Given the description of an element on the screen output the (x, y) to click on. 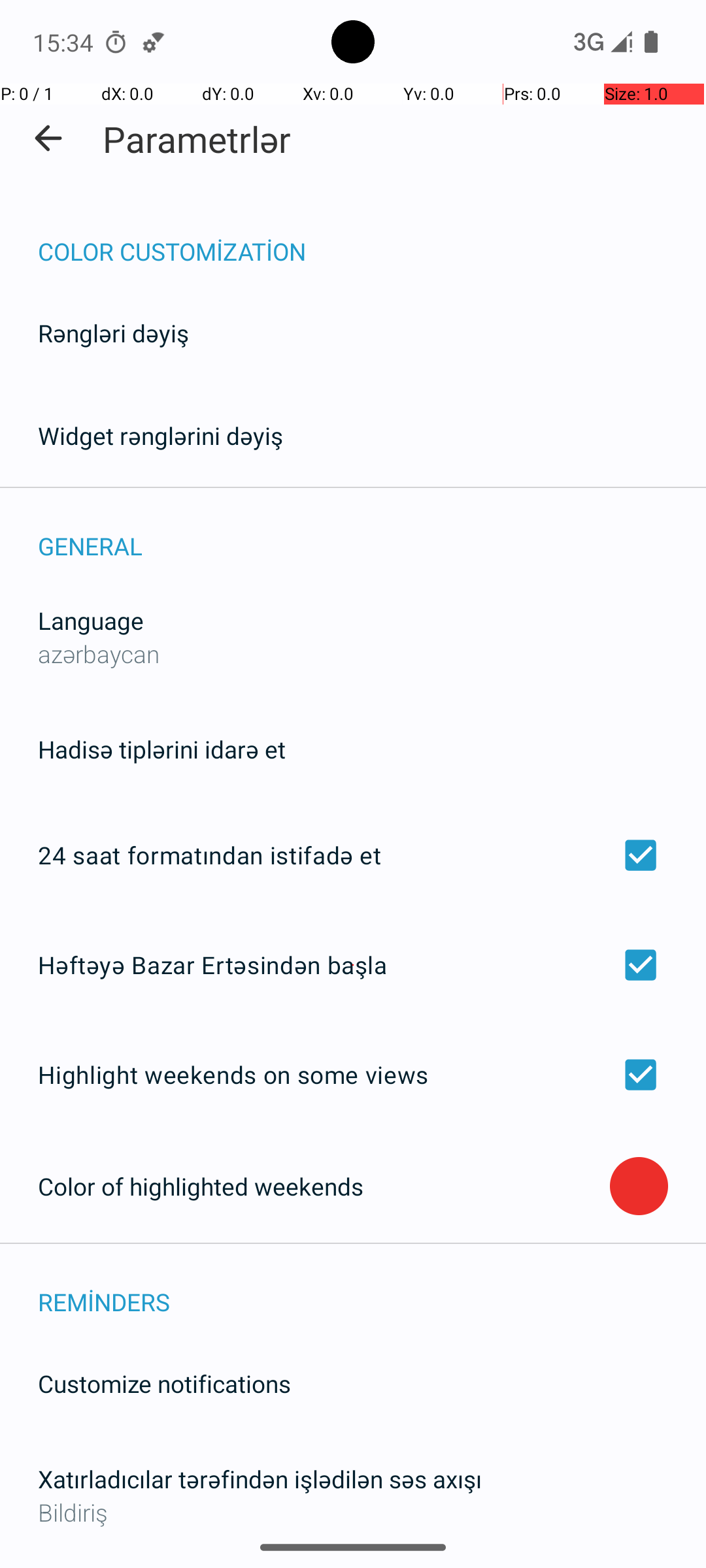
COLOR CUSTOMİZATİON Element type: android.widget.TextView (371, 237)
REMİNDERS Element type: android.widget.TextView (371, 1287)
Rəngləri dəyiş Element type: android.widget.TextView (112, 332)
Widget rənglərini dəyiş Element type: android.widget.TextView (160, 435)
azərbaycan Element type: android.widget.TextView (98, 653)
Hadisə tiplərini idarə et Element type: android.widget.TextView (161, 748)
24 saat formatından istifadə et Element type: android.widget.CheckBox (352, 855)
Həftəyə Bazar Ertəsindən başla Element type: android.widget.CheckBox (352, 964)
Xatırladıcılar tərəfindən işlədilən səs axışı Element type: android.widget.TextView (259, 1478)
Bildiriş Element type: android.widget.TextView (352, 1511)
